Given the description of an element on the screen output the (x, y) to click on. 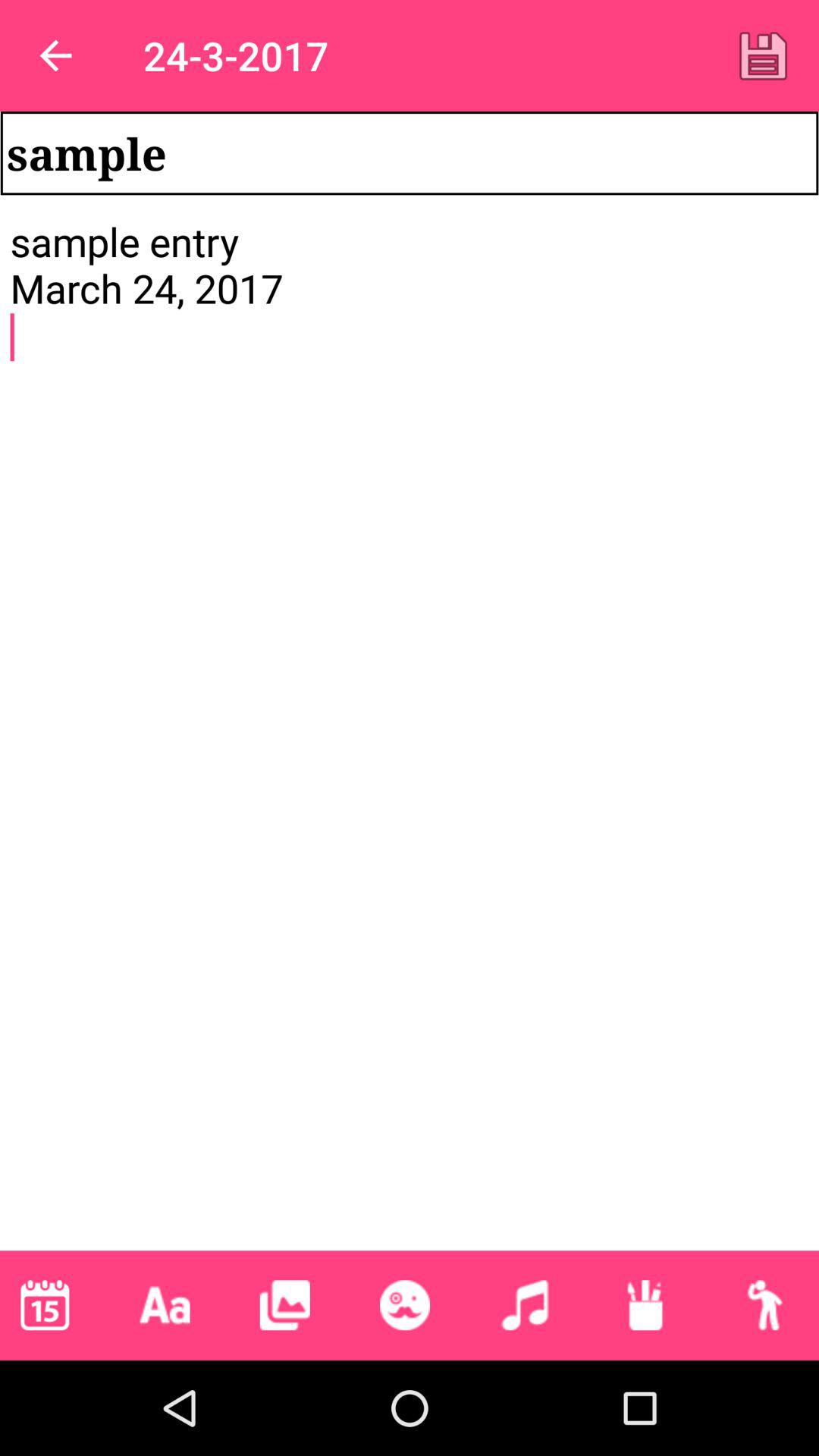
save text (763, 55)
